Given the description of an element on the screen output the (x, y) to click on. 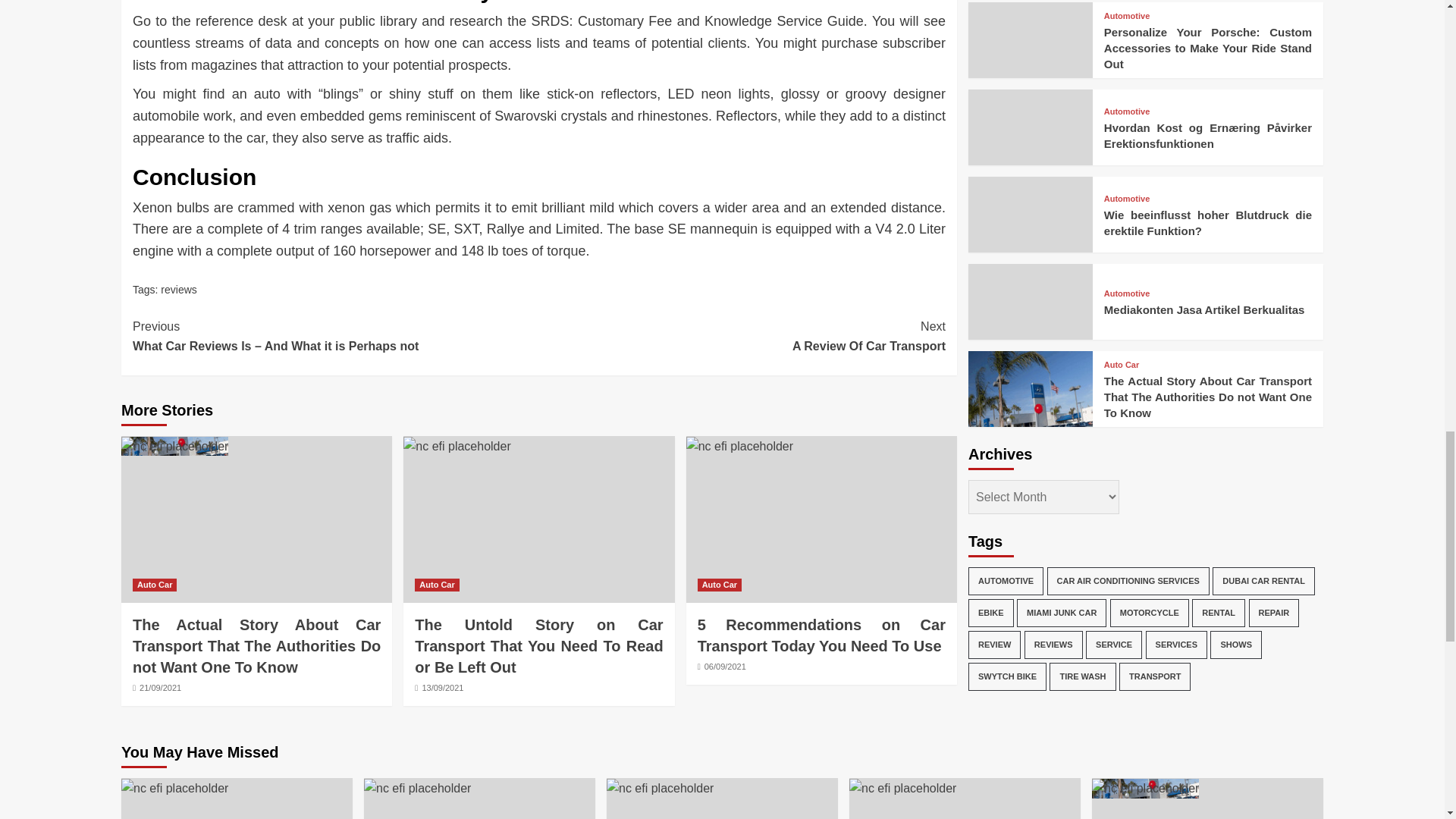
Auto Car (719, 584)
Auto Car (741, 335)
5 Recommendations on Car Transport Today You Need To Use (154, 584)
5 Recommendations on Car Transport Today You Need To Use (739, 446)
Auto Car (820, 635)
